Given the description of an element on the screen output the (x, y) to click on. 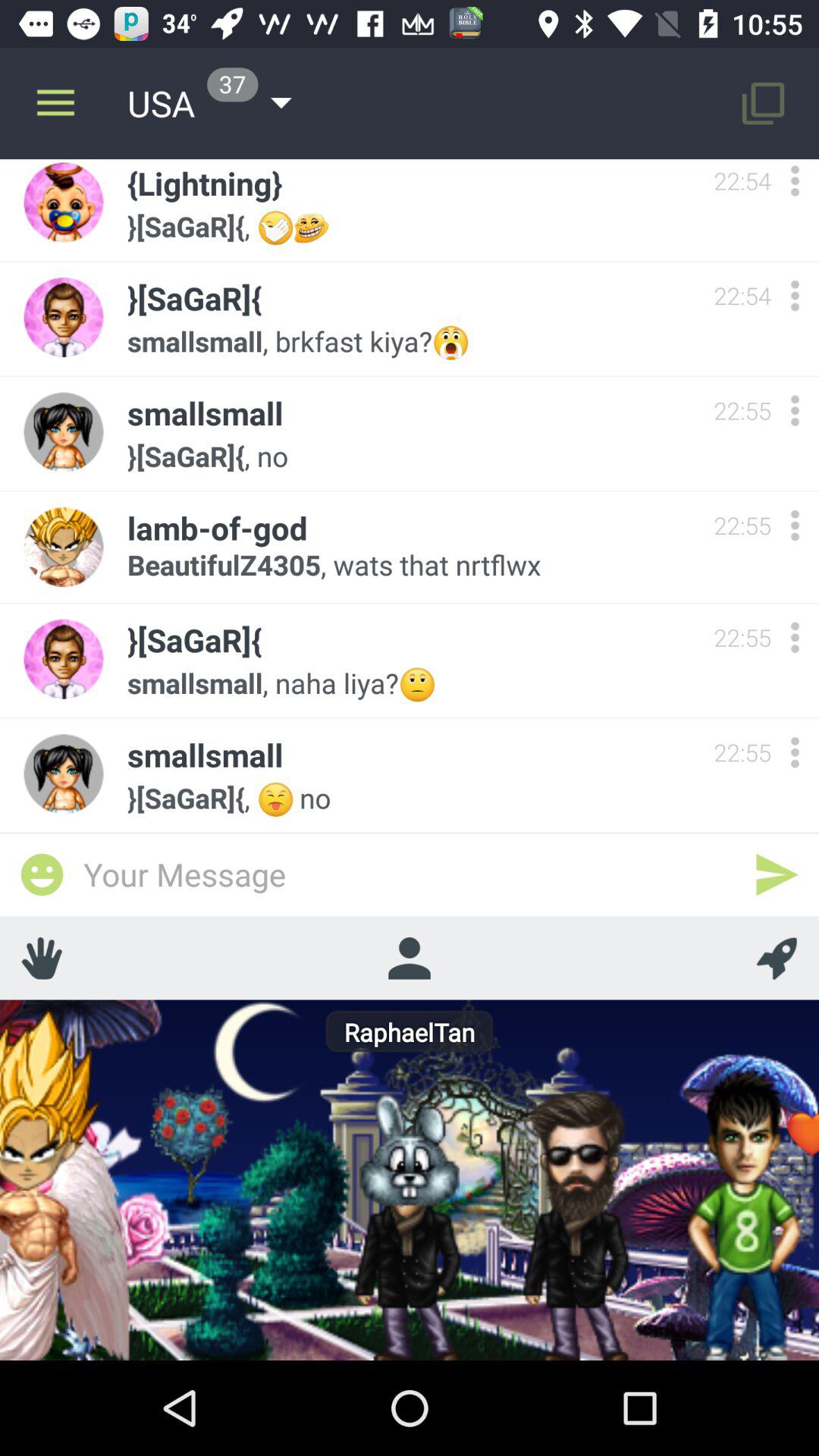
message icon (41, 874)
